Given the description of an element on the screen output the (x, y) to click on. 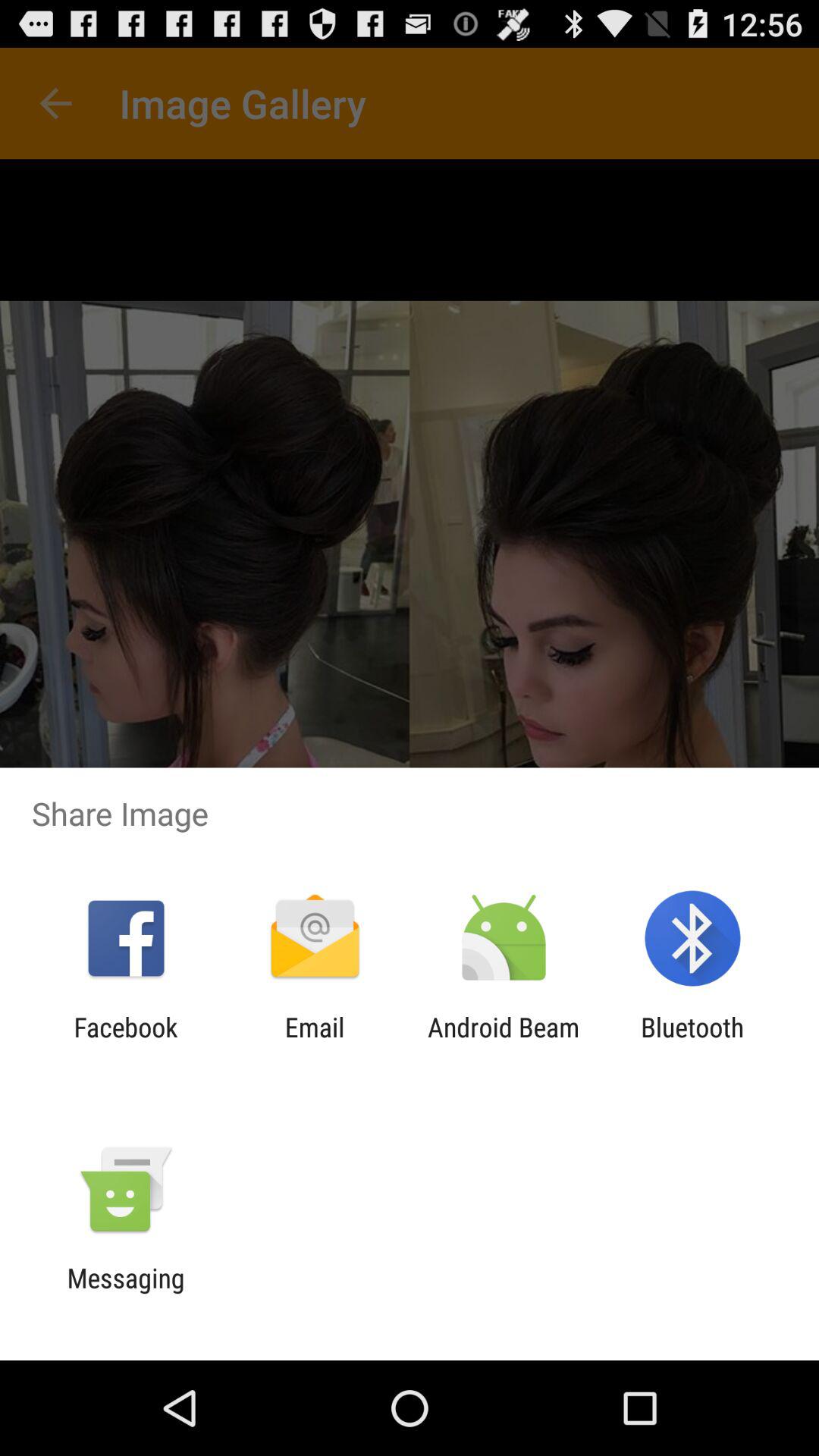
scroll until email icon (314, 1042)
